Given the description of an element on the screen output the (x, y) to click on. 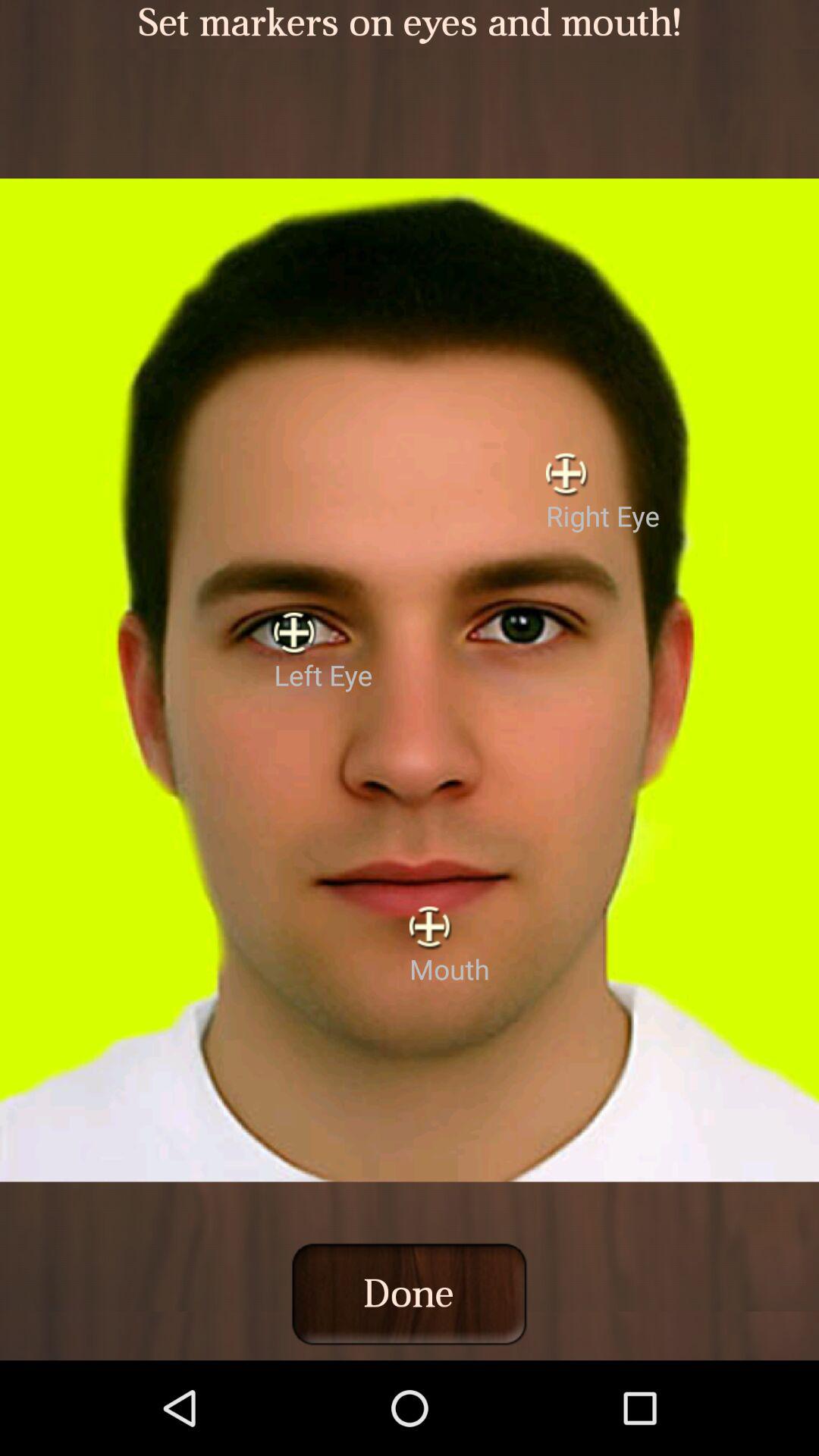
select the icon below the mouth (409, 1293)
